Given the description of an element on the screen output the (x, y) to click on. 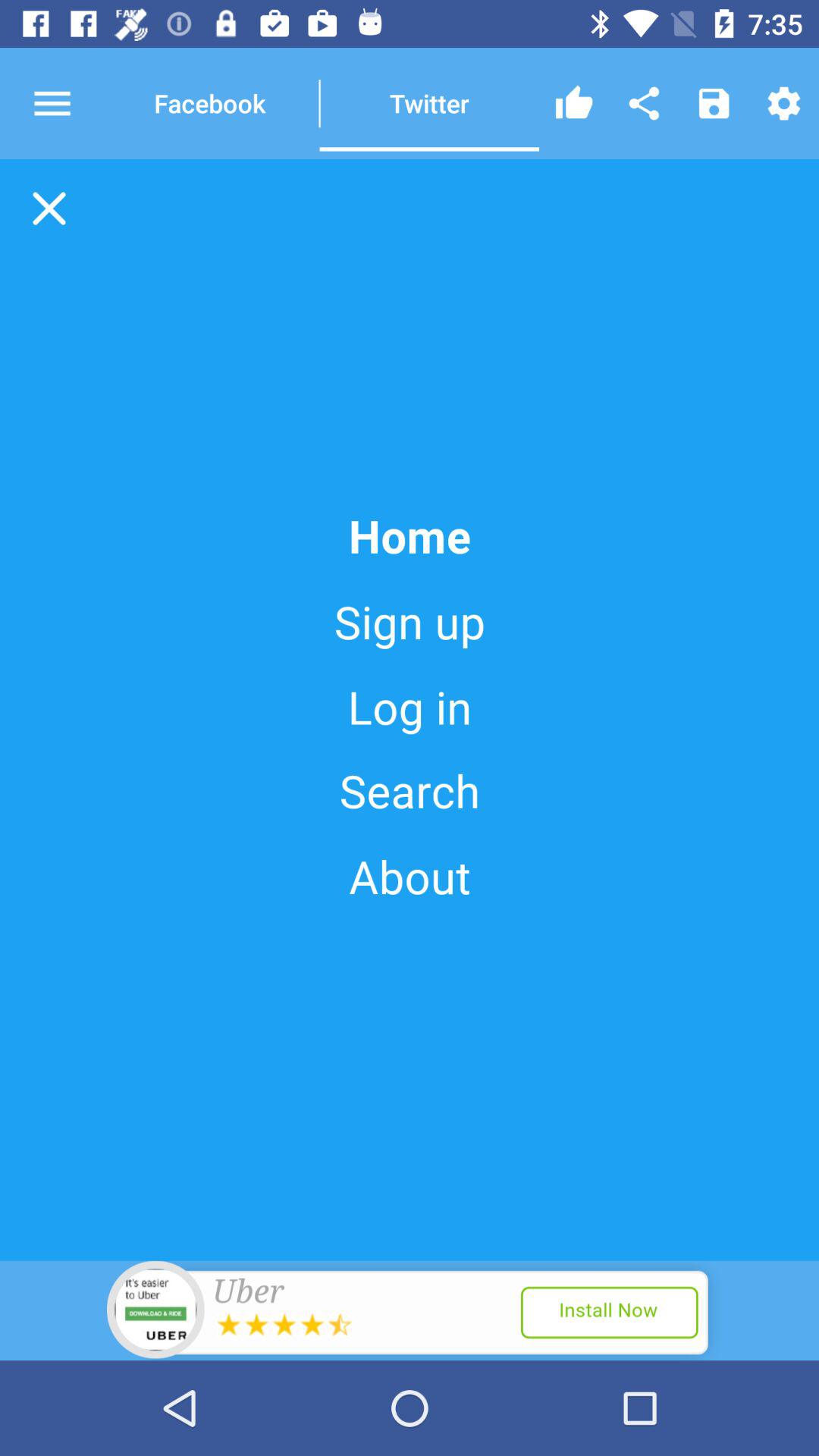
upvote (574, 103)
